Given the description of an element on the screen output the (x, y) to click on. 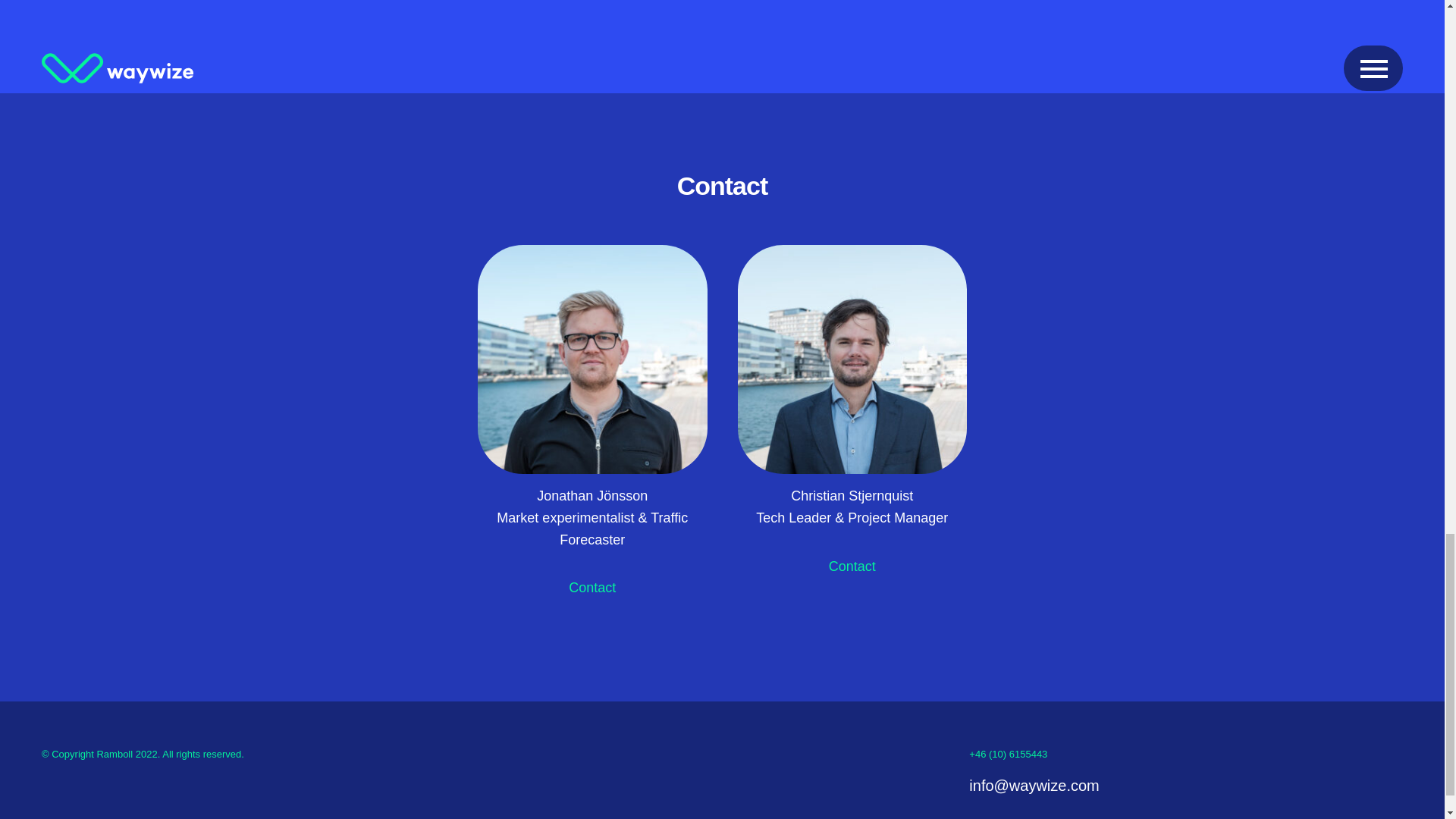
Jonathan (592, 359)
Contact (852, 567)
Contact (592, 587)
Christian (851, 359)
